Given the description of an element on the screen output the (x, y) to click on. 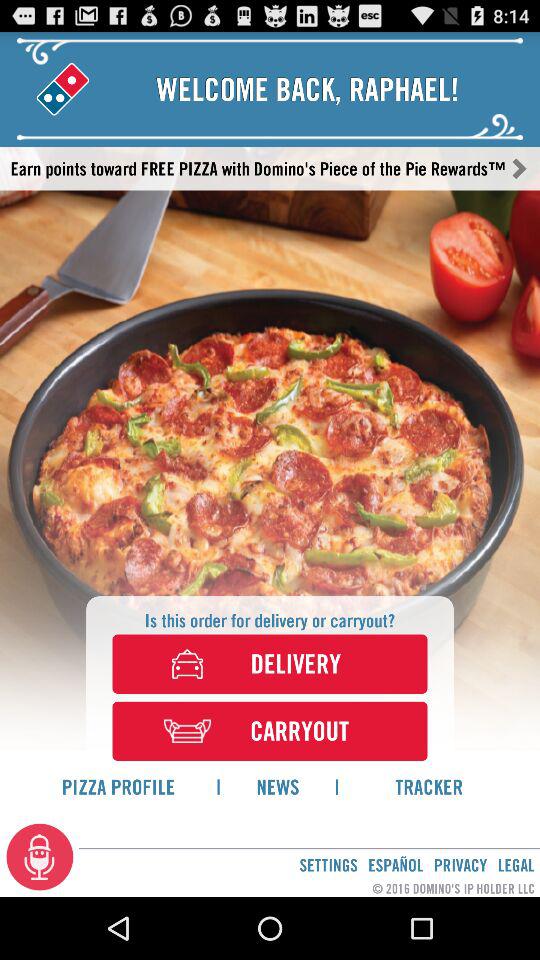
press icon next to settings icon (40, 856)
